Given the description of an element on the screen output the (x, y) to click on. 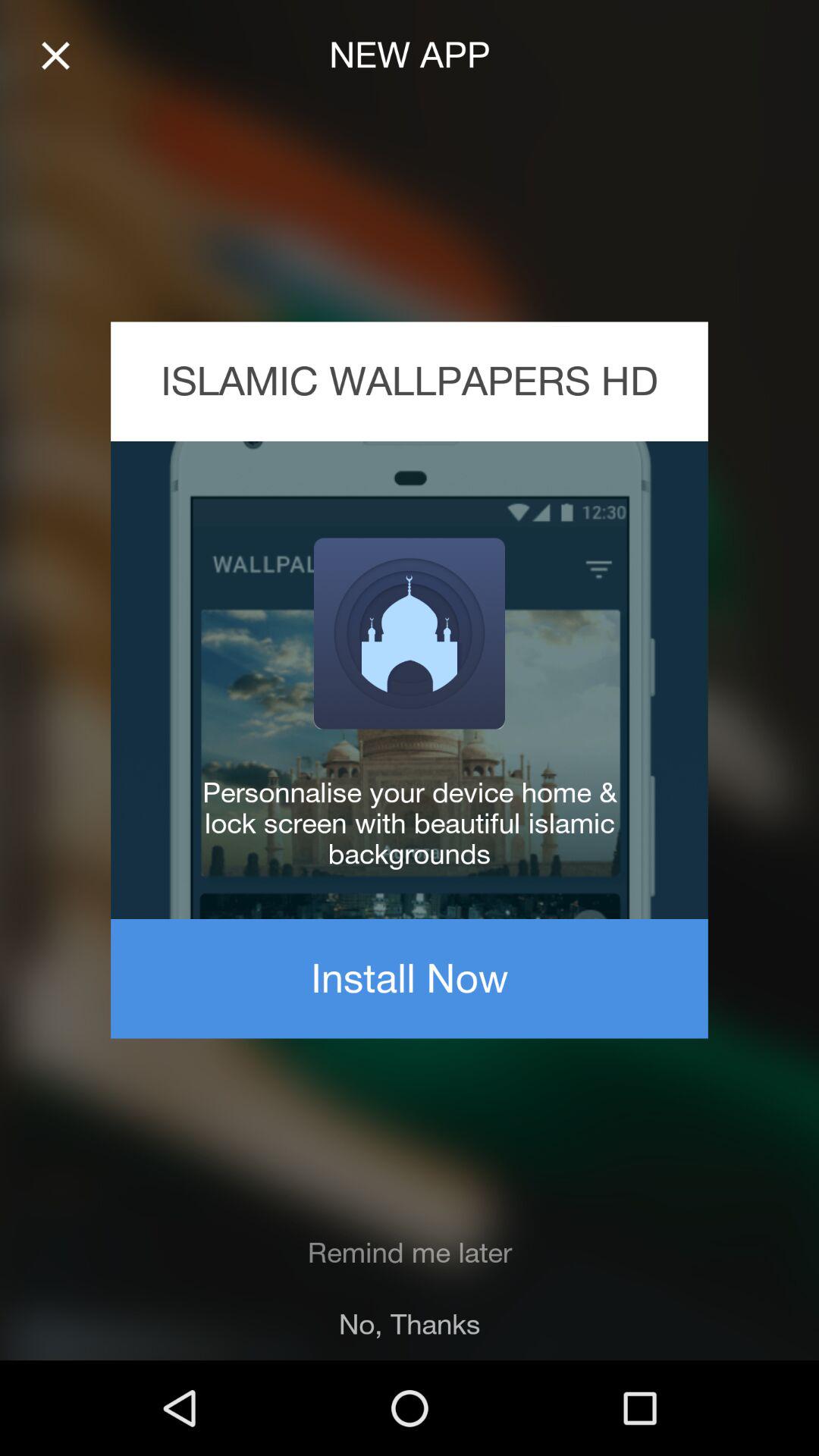
select the item above the no, thanks item (409, 1252)
